Given the description of an element on the screen output the (x, y) to click on. 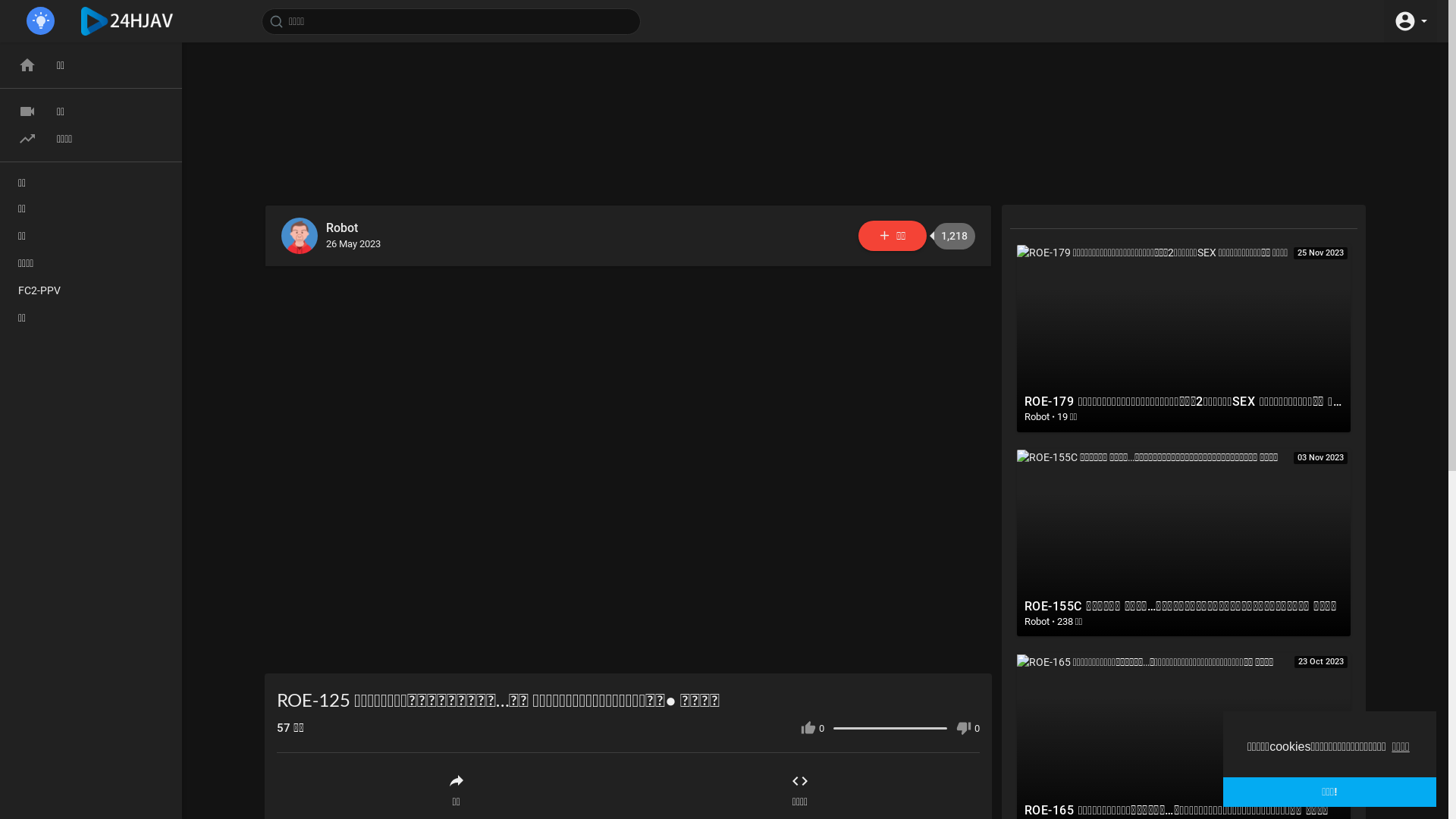
FC2-PPV Element type: text (91, 290)
0 Element type: text (967, 727)
Robot Element type: text (353, 228)
0 Element type: text (812, 727)
